Given the description of an element on the screen output the (x, y) to click on. 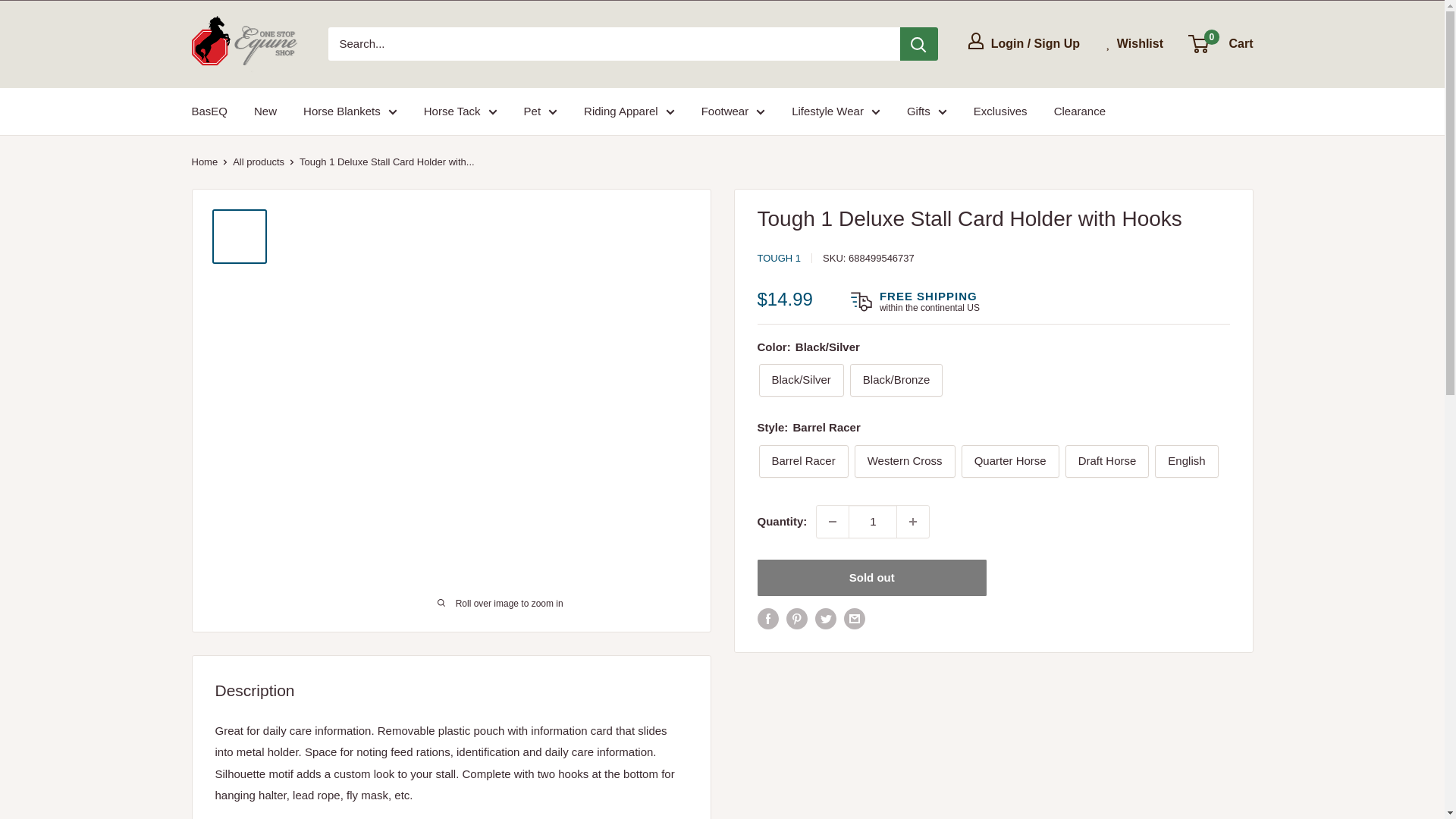
Increase quantity by 1 (912, 521)
Barrel Racer (802, 461)
1 (872, 521)
Western Cross (904, 461)
Draft Horse (1107, 461)
English (1185, 461)
Quarter Horse (1009, 461)
Decrease quantity by 1 (832, 521)
